Given the description of an element on the screen output the (x, y) to click on. 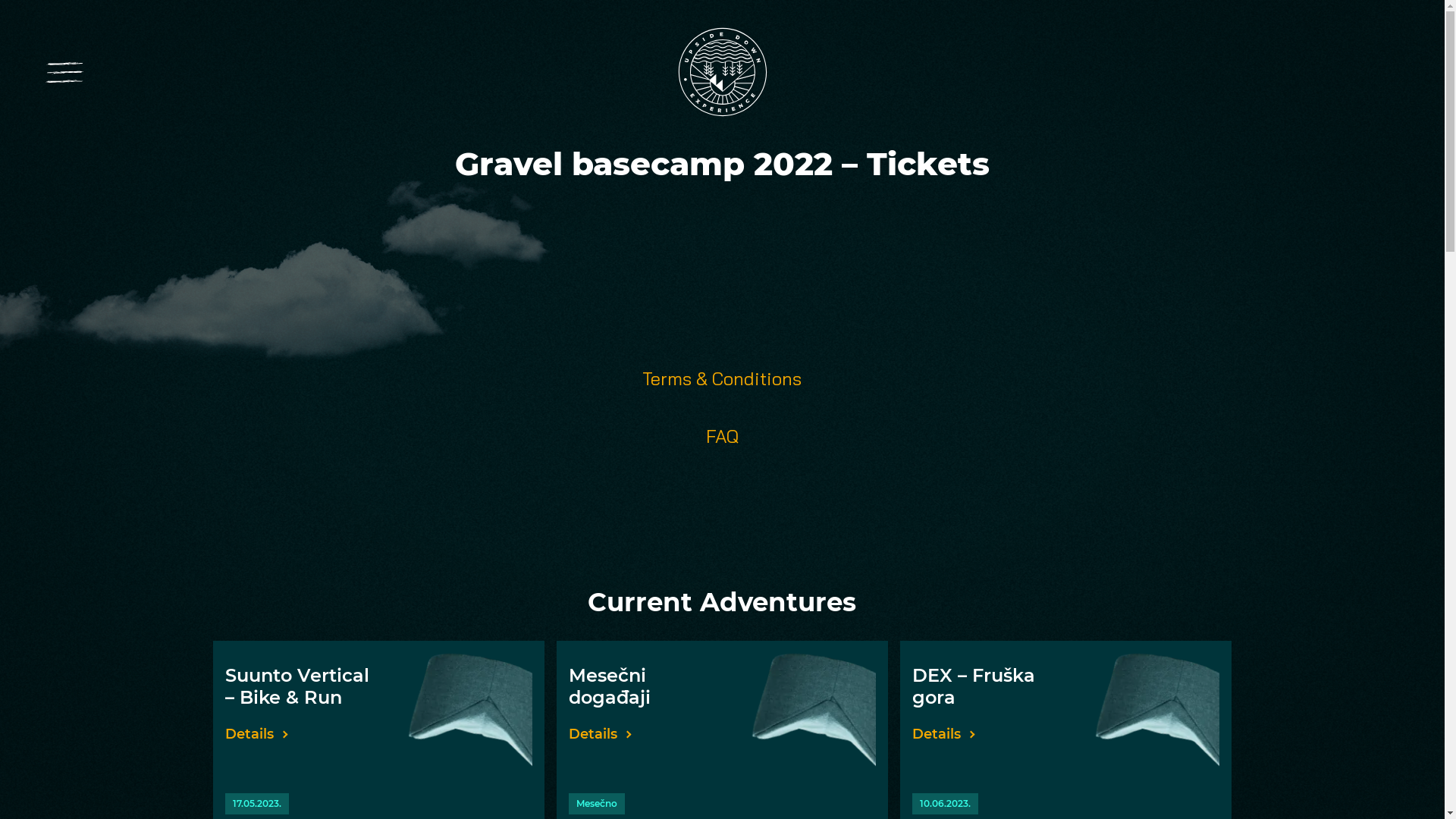
Details Element type: text (256, 733)
FAQ Element type: text (722, 435)
Details Element type: text (943, 733)
Details Element type: text (600, 733)
Terms & Conditions Element type: text (721, 378)
